Given the description of an element on the screen output the (x, y) to click on. 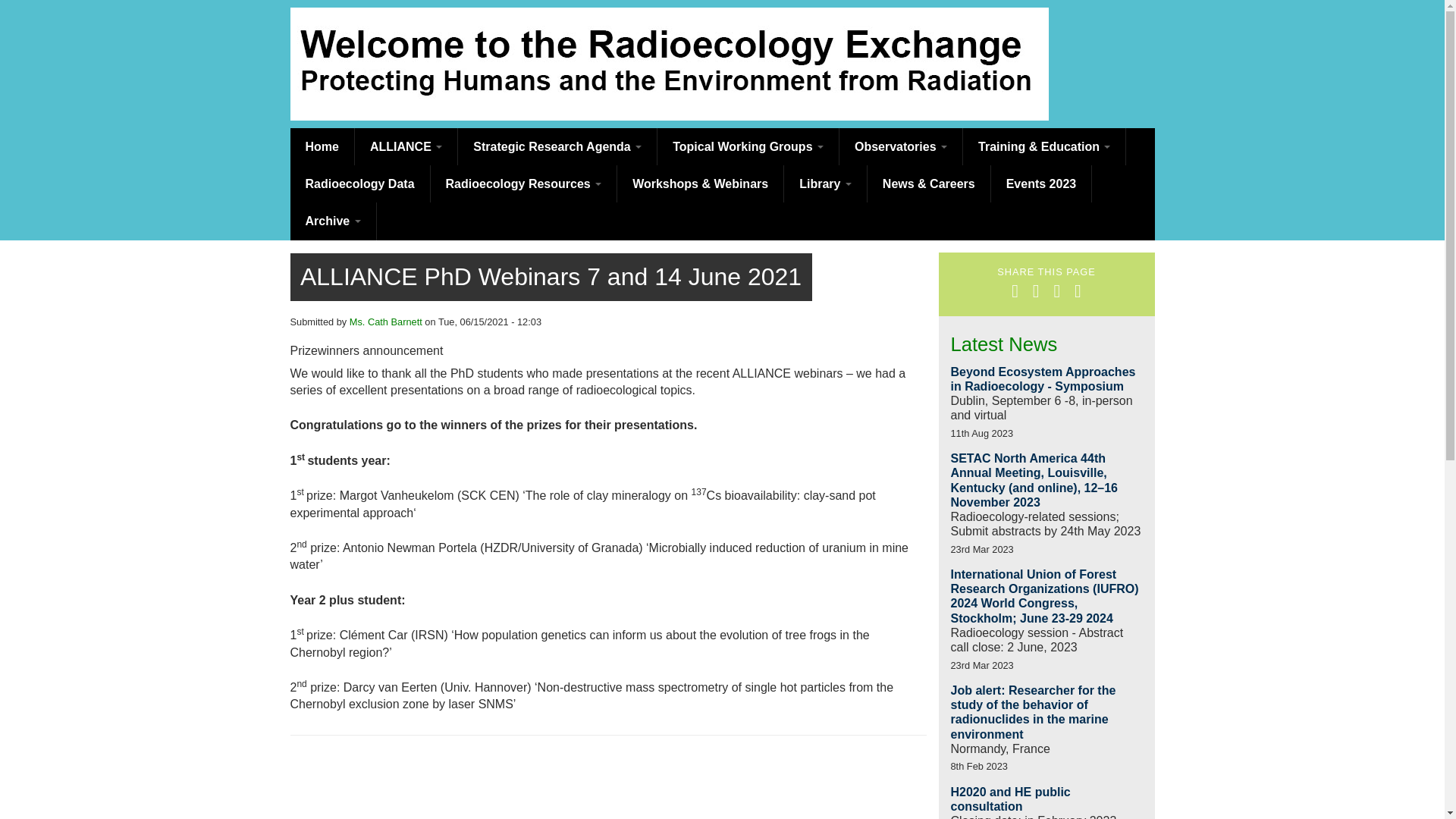
Observatories (901, 146)
Radioecology Resources (523, 183)
ALLIANCE (406, 146)
Home (321, 146)
Library (825, 183)
Radioecology Data (359, 183)
Strategic Research Agenda (558, 146)
Home (321, 146)
Topical Working Groups (749, 146)
